Given the description of an element on the screen output the (x, y) to click on. 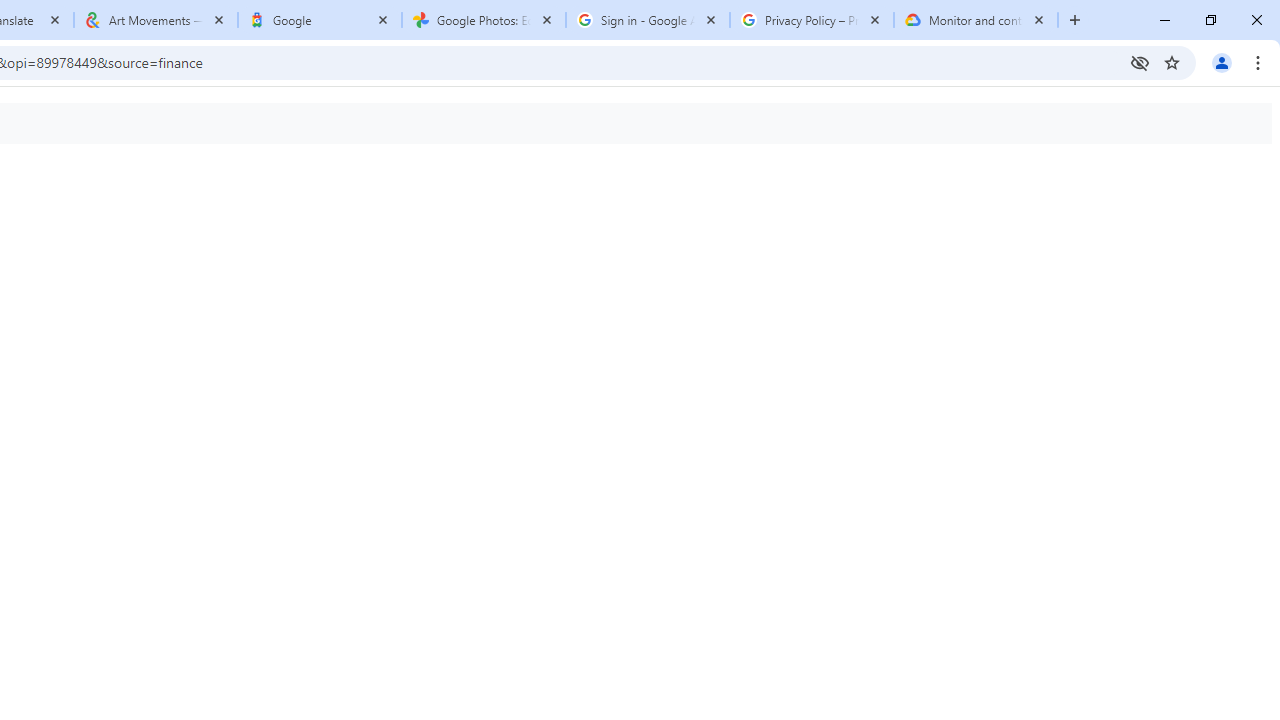
Sign in - Google Accounts (647, 20)
Google (319, 20)
